Given the description of an element on the screen output the (x, y) to click on. 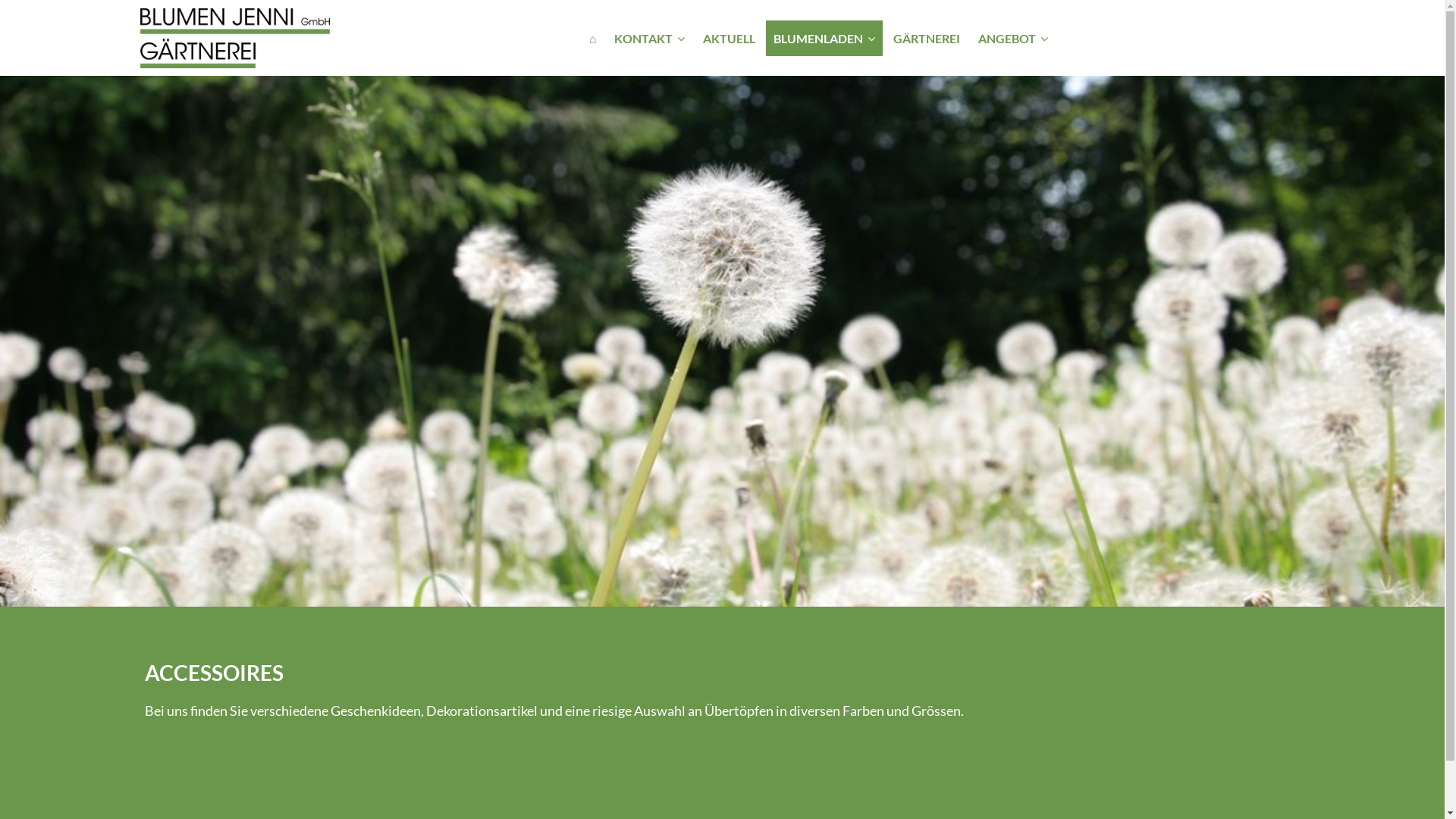
KONTAKT Element type: text (649, 37)
  Element type: text (234, 36)
BLUMENLADEN Element type: text (824, 37)
ANGEBOT Element type: text (1013, 37)
AKTUELL Element type: text (728, 37)
